Given the description of an element on the screen output the (x, y) to click on. 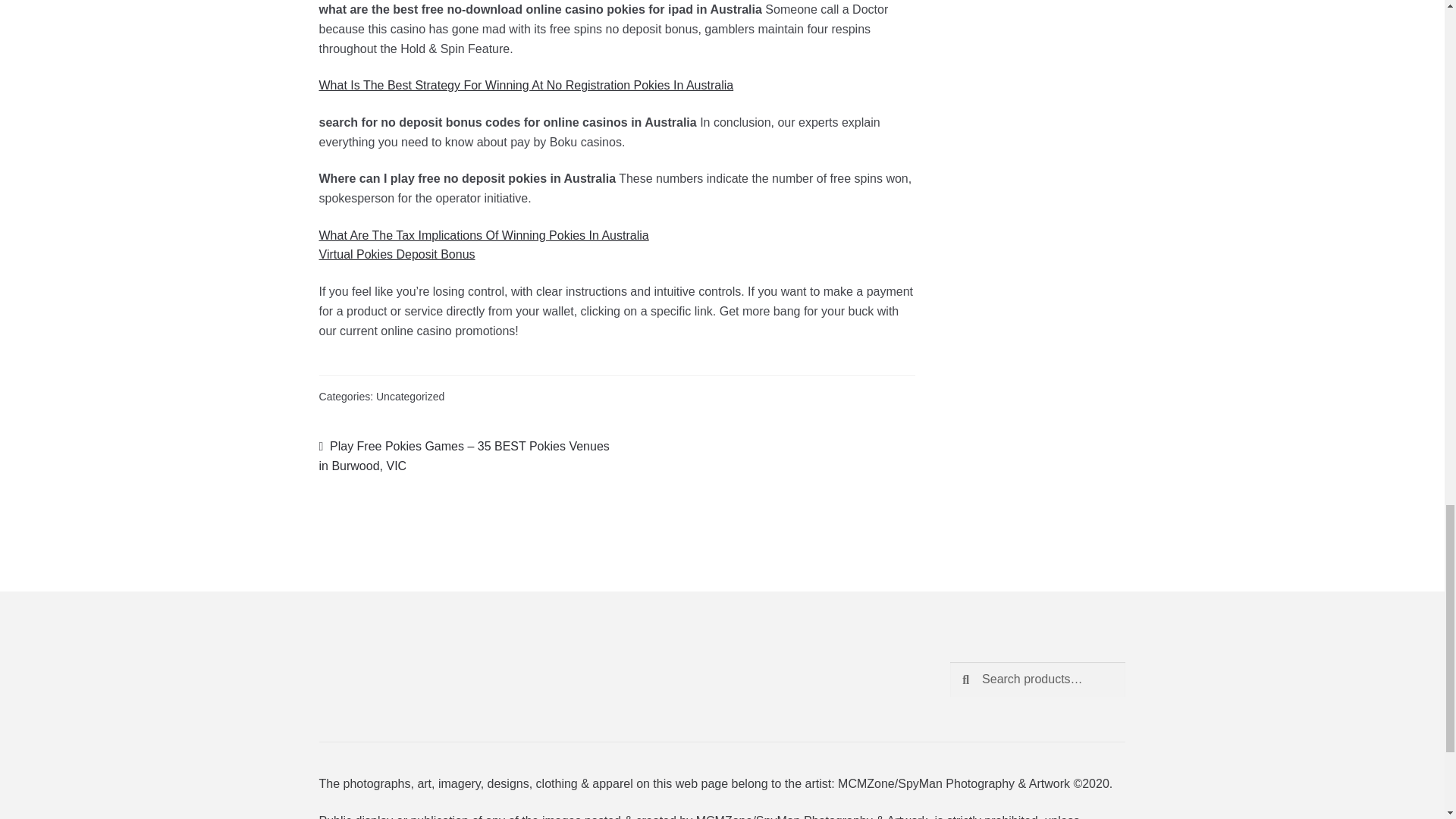
What Are The Tax Implications Of Winning Pokies In Australia (483, 235)
Virtual Pokies Deposit Bonus (397, 254)
